Given the description of an element on the screen output the (x, y) to click on. 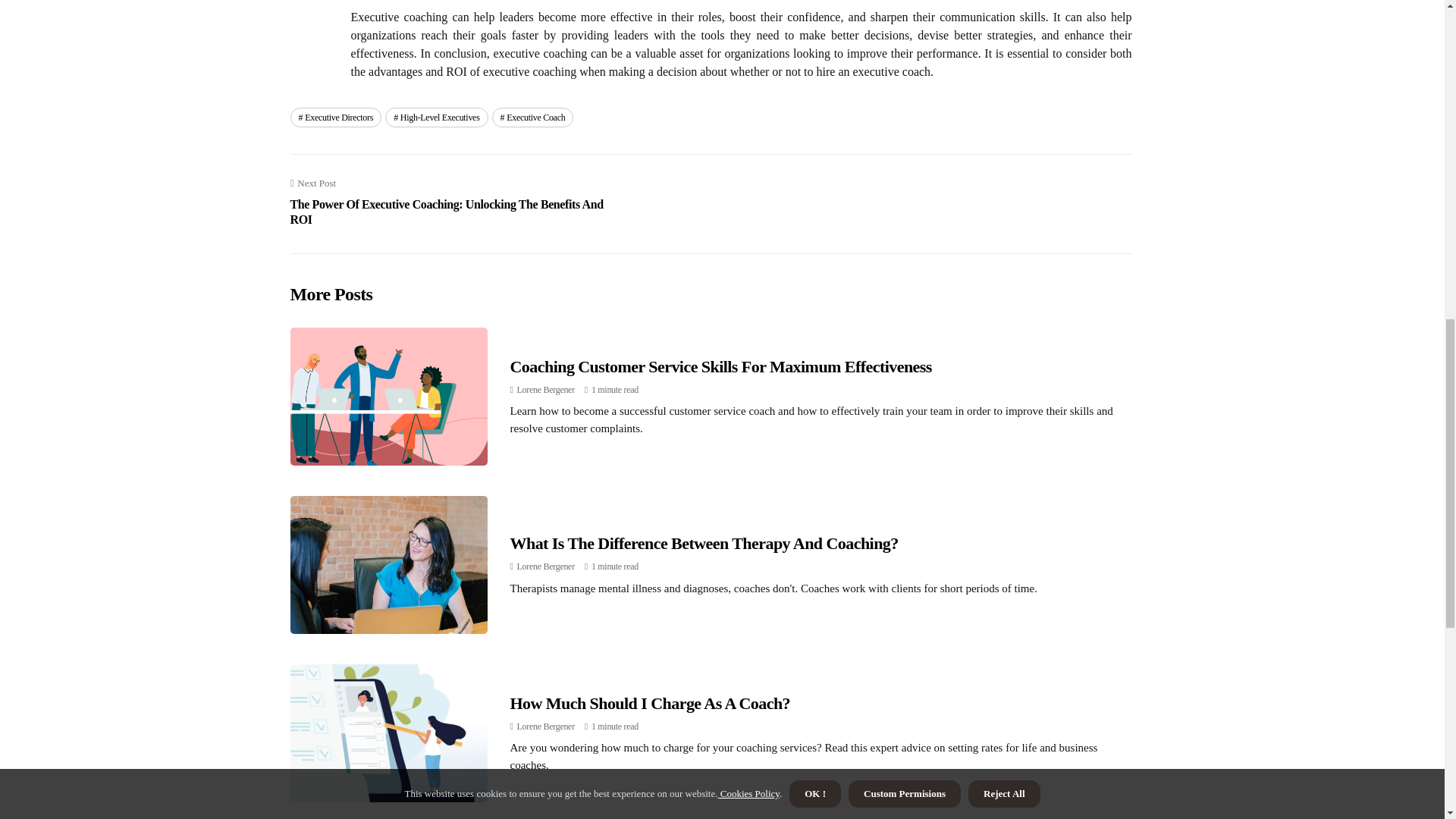
What Is The Difference Between Therapy And Coaching? (703, 542)
How Much Should I Charge As A Coach? (649, 702)
High-Level Executives (436, 117)
Posts by Lorene Bergener (545, 566)
Lorene Bergener (545, 566)
Executive Directors (335, 117)
Lorene Bergener (545, 726)
Executive Coach (532, 117)
Lorene Bergener (545, 389)
Posts by Lorene Bergener (545, 726)
Coaching Customer Service Skills For Maximum Effectiveness (720, 366)
Posts by Lorene Bergener (545, 389)
